Given the description of an element on the screen output the (x, y) to click on. 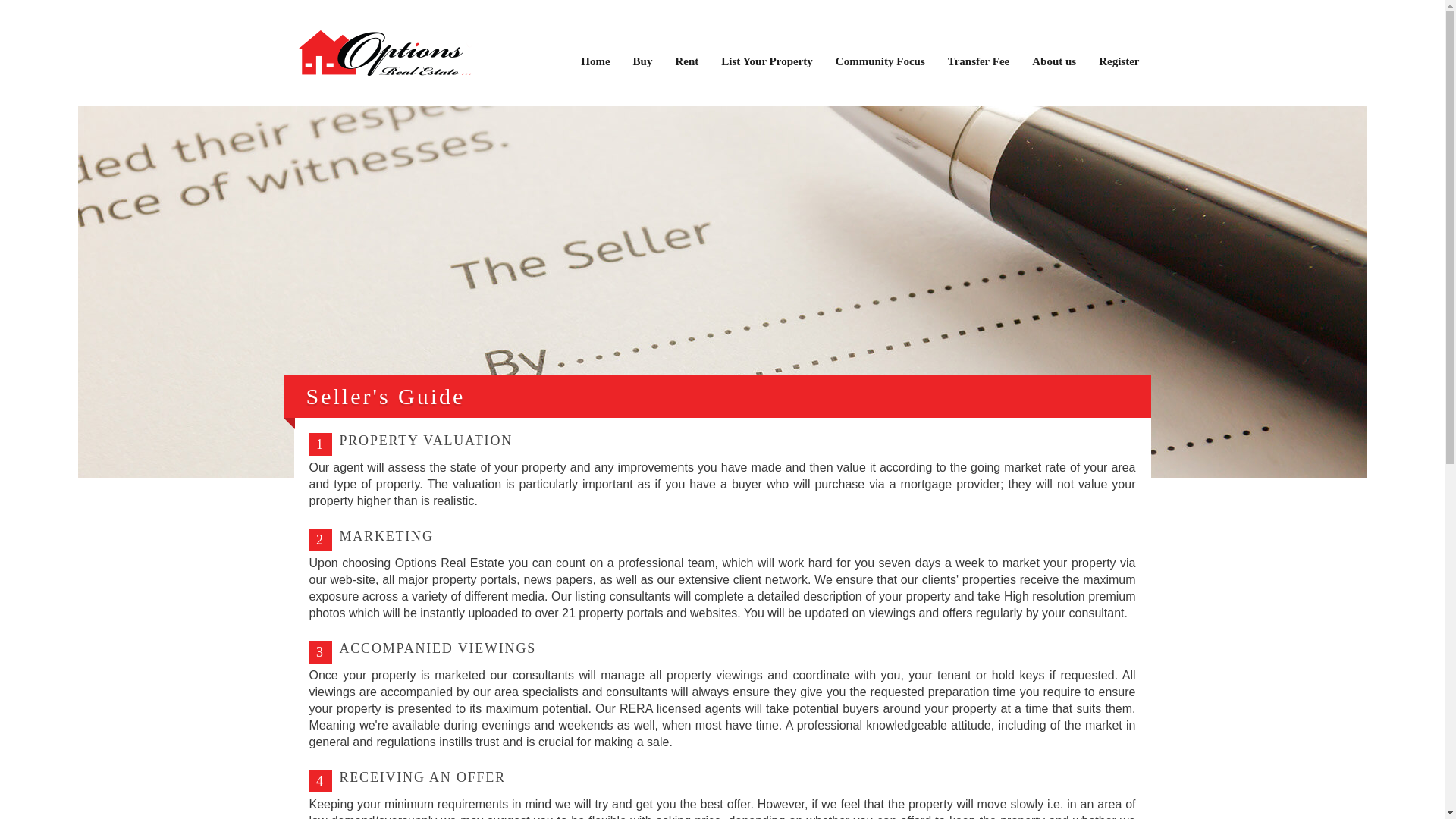
List Your Property (767, 60)
Community Focus (880, 60)
Transfer Fee (978, 60)
